Given the description of an element on the screen output the (x, y) to click on. 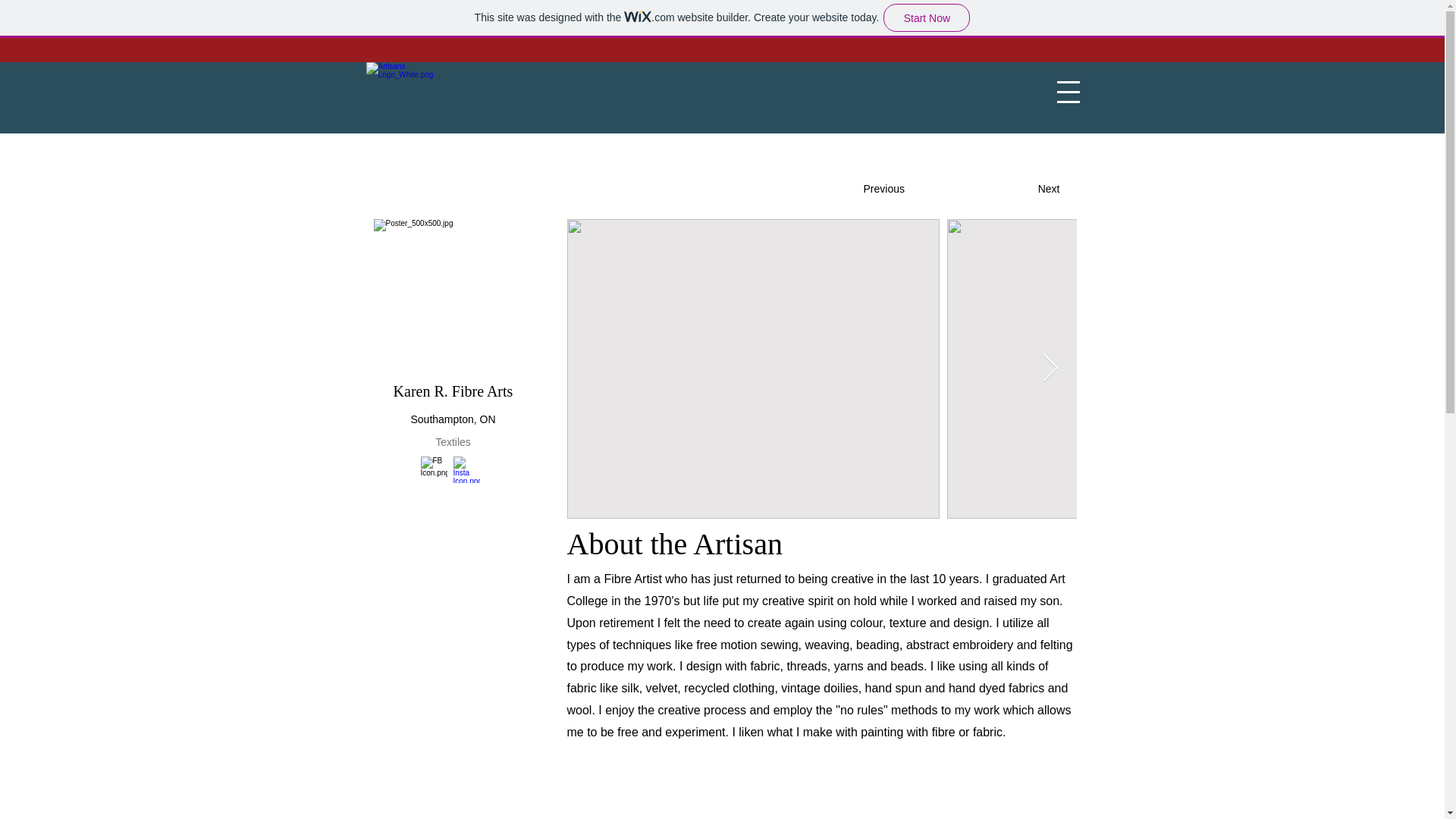
Next (1021, 189)
Artisan.jpg (452, 296)
Previous (912, 189)
